Given the description of an element on the screen output the (x, y) to click on. 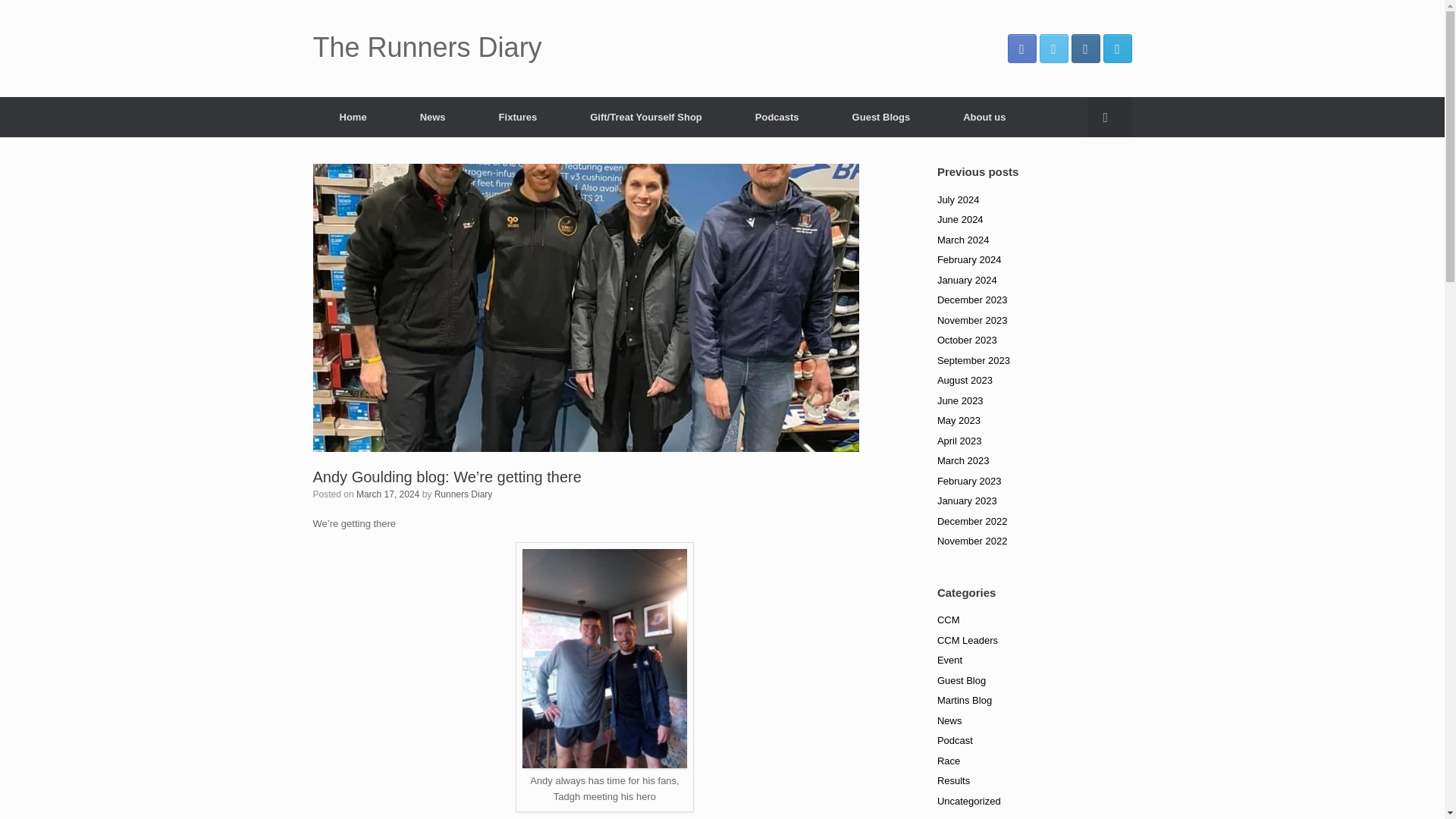
The Runners Diary Facebook (1021, 48)
Podcasts (777, 117)
June 2023 (960, 399)
Home (353, 117)
The Runners Diary Instagram (1084, 48)
About us (984, 117)
The Runners Diary Email (1116, 48)
June 2024 (960, 219)
March 2024 (963, 238)
CCM Leaders (967, 639)
Guest Blogs (881, 117)
November 2022 (972, 541)
August 2023 (964, 379)
News (432, 117)
November 2023 (972, 319)
